Given the description of an element on the screen output the (x, y) to click on. 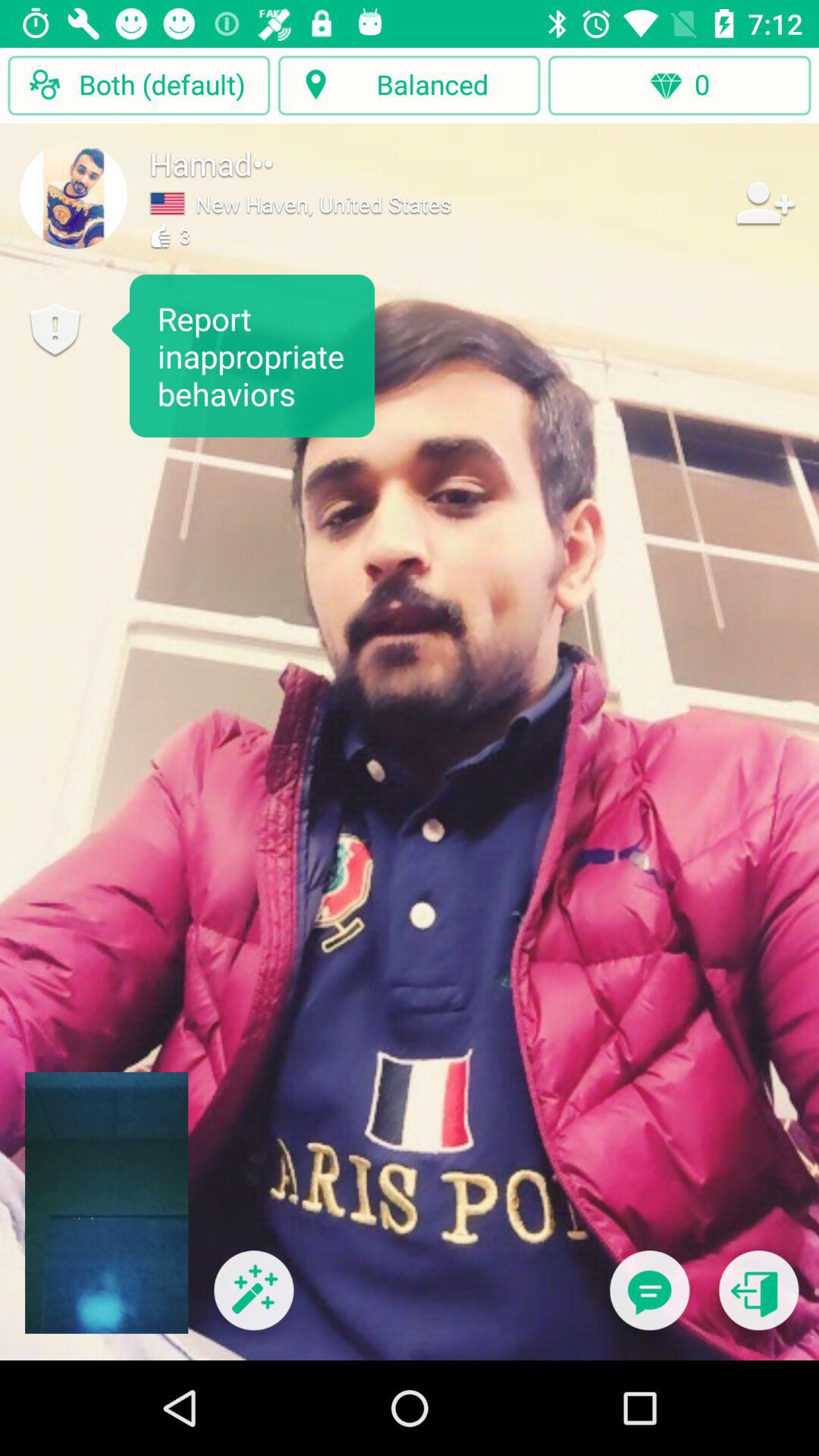
select to start a chat (649, 1300)
